Given the description of an element on the screen output the (x, y) to click on. 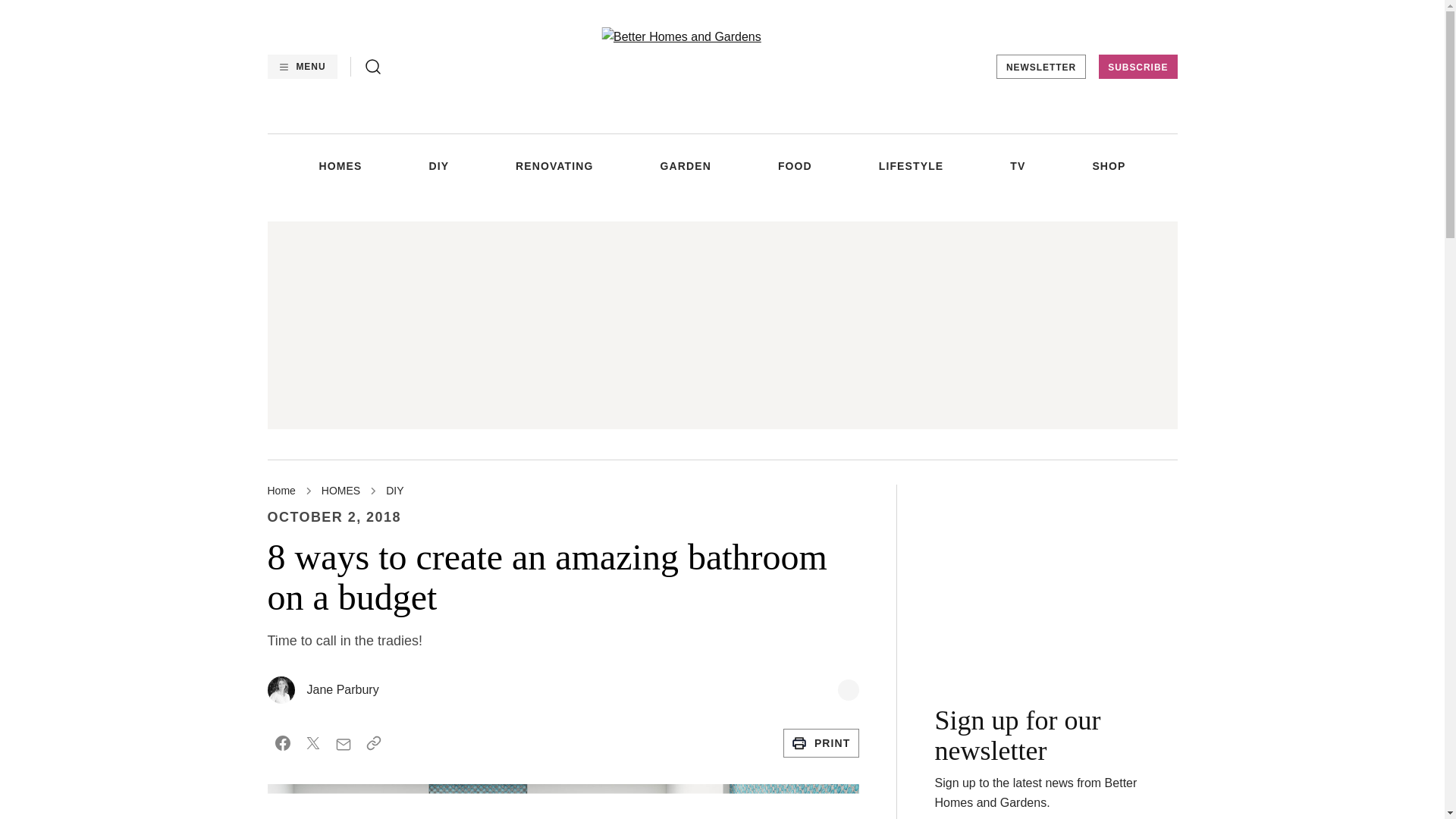
HOMES (339, 165)
DIY (438, 165)
FOOD (794, 165)
NEWSLETTER (1040, 66)
MENU (301, 66)
GARDEN (686, 165)
SHOP (1108, 165)
TV (1017, 165)
LIFESTYLE (911, 165)
SUBSCRIBE (1137, 66)
